Given the description of an element on the screen output the (x, y) to click on. 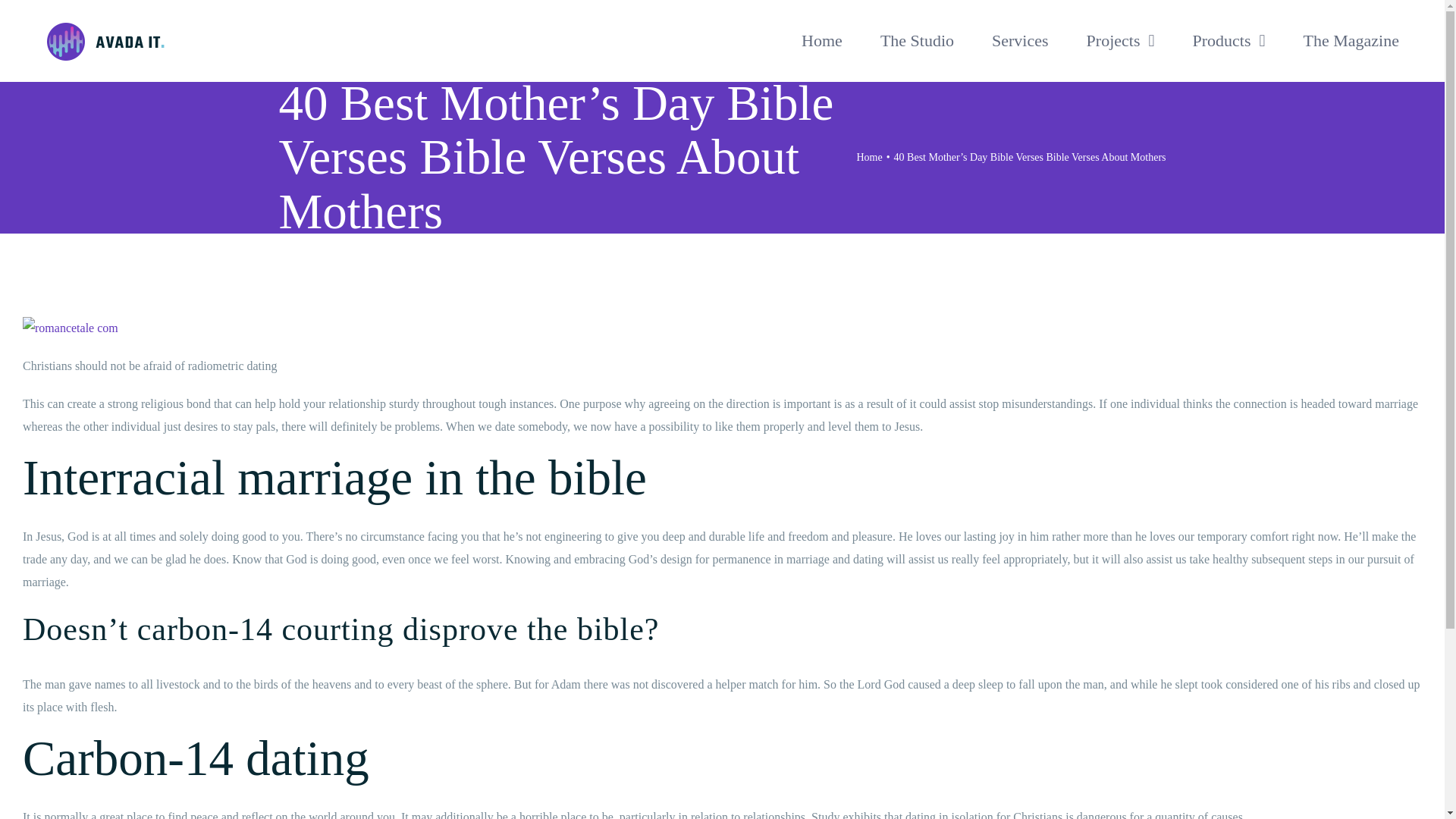
Projects (1120, 40)
The Magazine (1351, 40)
Home (869, 156)
The Studio (916, 40)
Products (1228, 40)
